Given the description of an element on the screen output the (x, y) to click on. 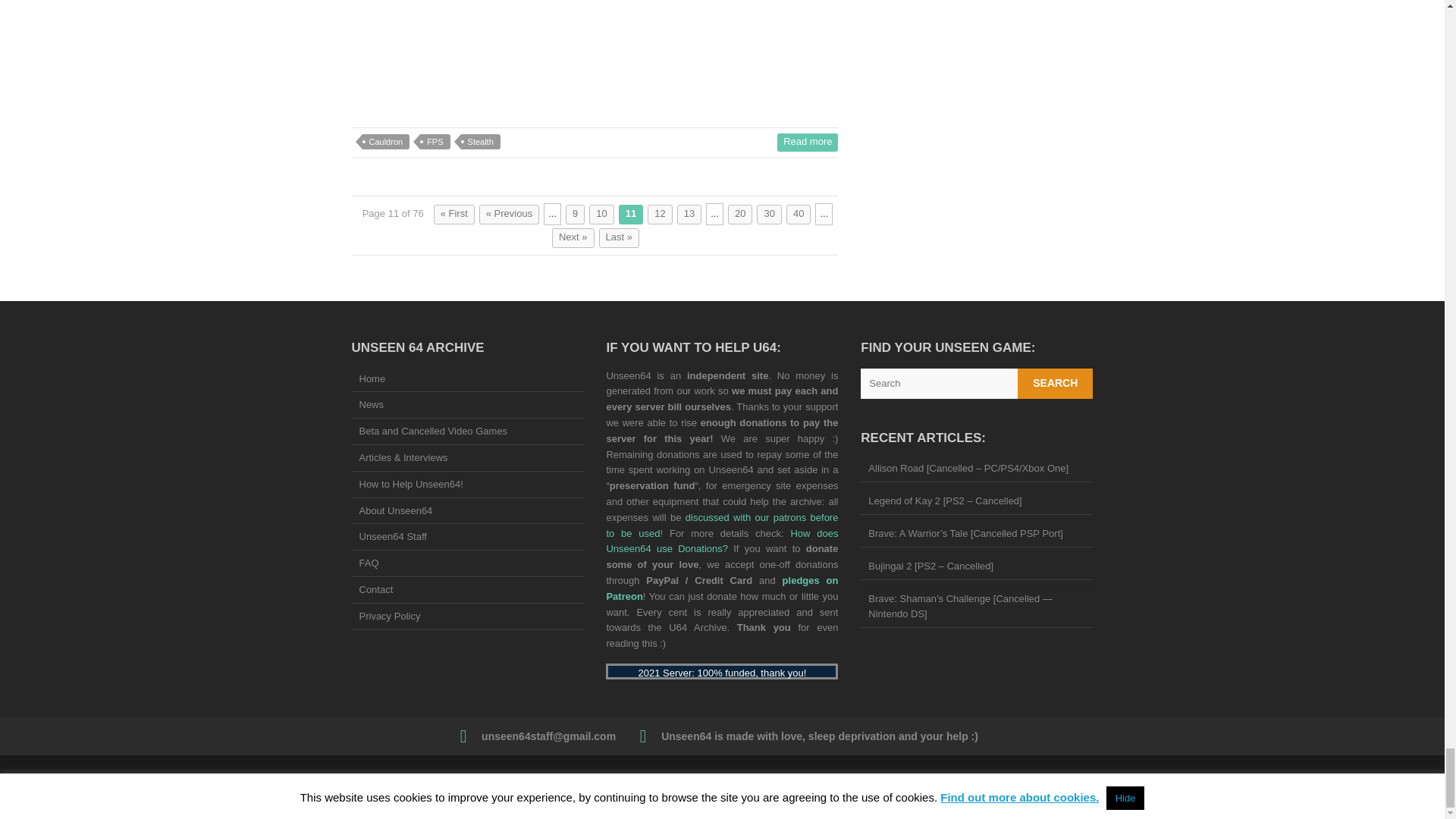
Search (1055, 383)
Search (1055, 383)
